Given the description of an element on the screen output the (x, y) to click on. 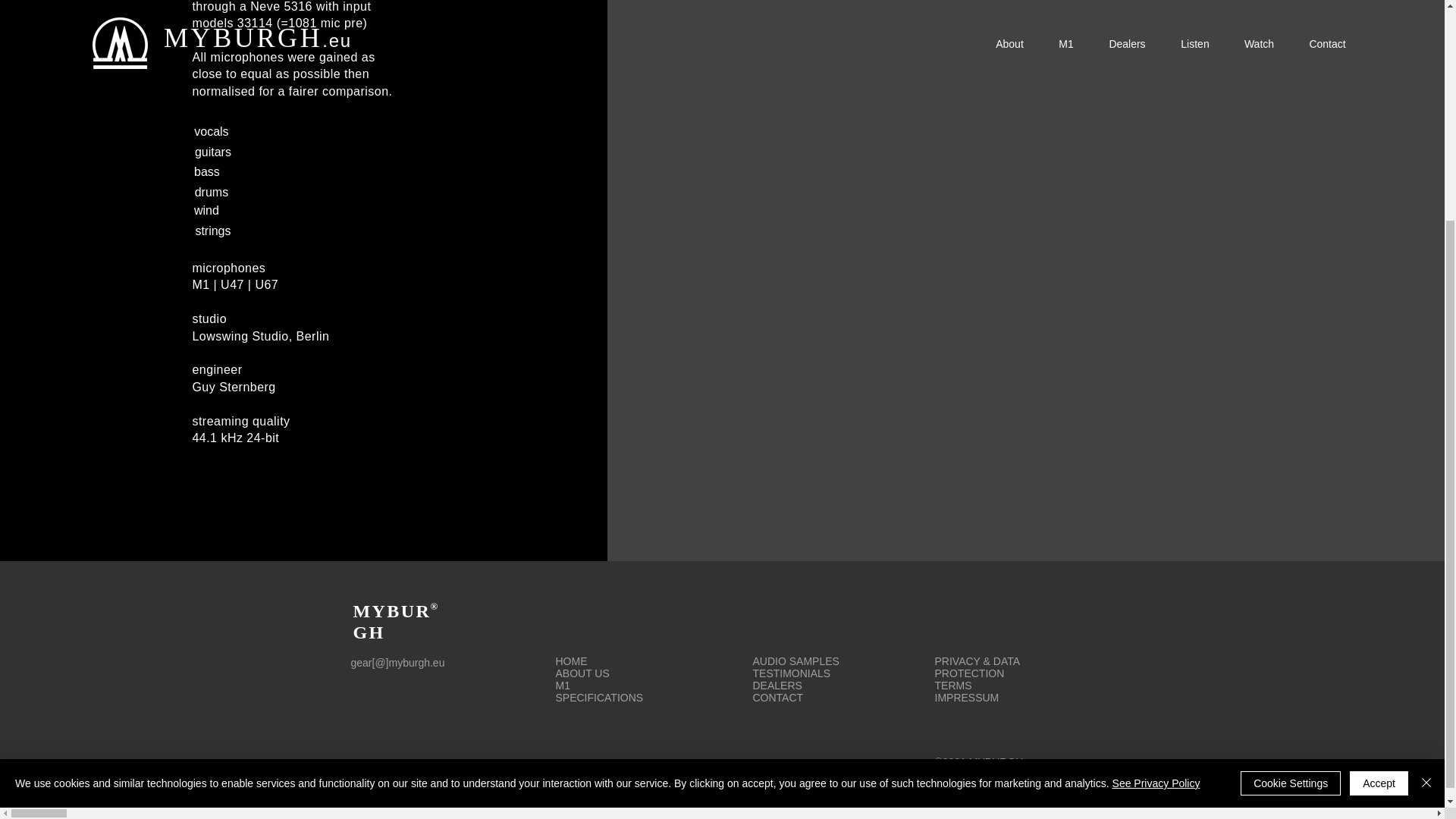
IMPRESSUM (966, 697)
HOME (570, 661)
See Privacy Policy (1155, 485)
Cookie Settings (1290, 485)
TERMS (952, 685)
drums (211, 192)
guitars (212, 152)
Accept (1378, 485)
SPECIFICATIONS (598, 697)
ABOUT US (581, 673)
